Given the description of an element on the screen output the (x, y) to click on. 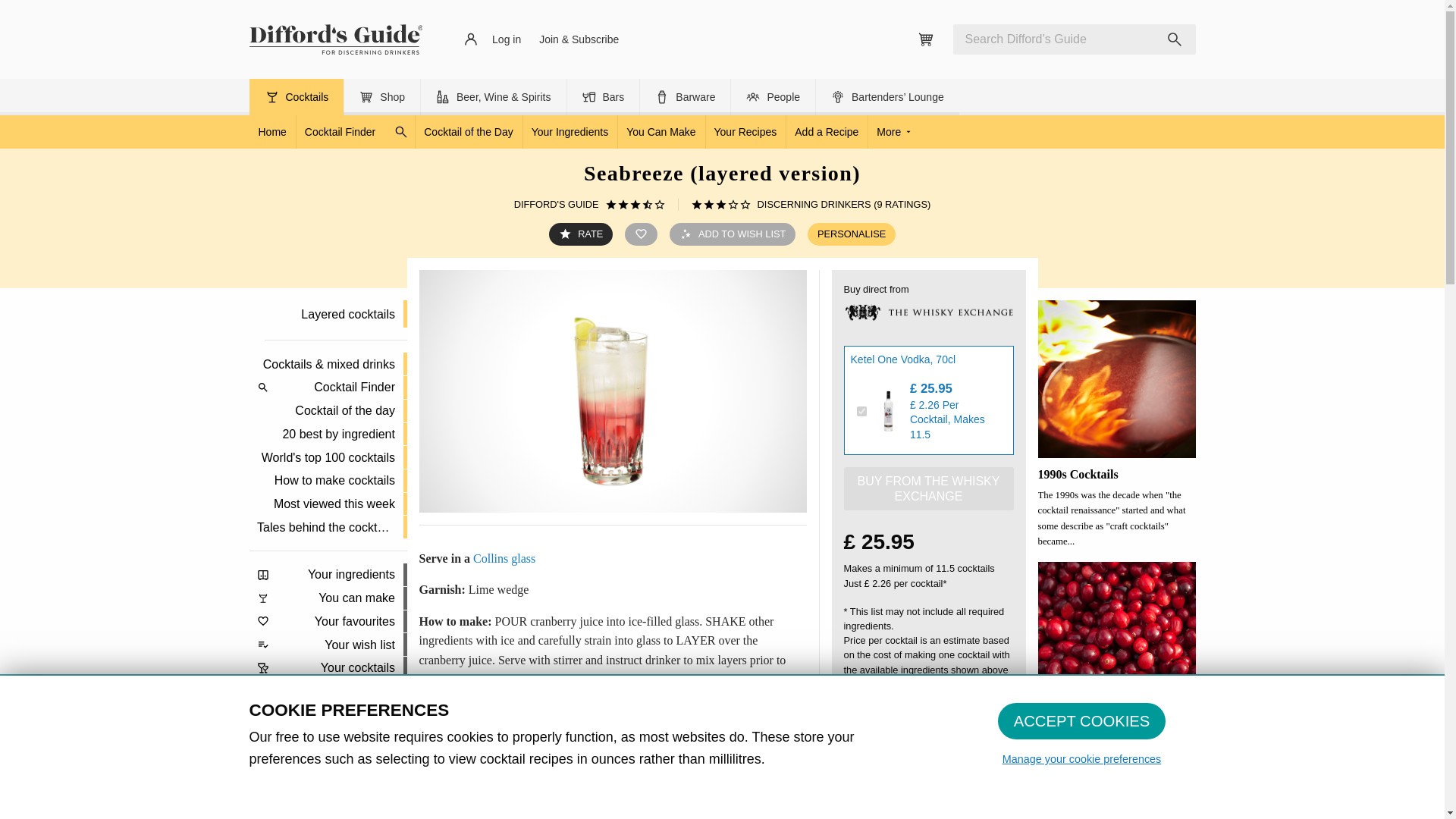
Log in or register (492, 39)
More (895, 131)
Difford's Guide homepage (335, 39)
Your Ingredients (569, 131)
Your Recipes (745, 131)
Log in (492, 39)
You Can Make (660, 131)
Cocktails homepage (271, 131)
Cocktail Finder (354, 131)
Shop (381, 96)
